Given the description of an element on the screen output the (x, y) to click on. 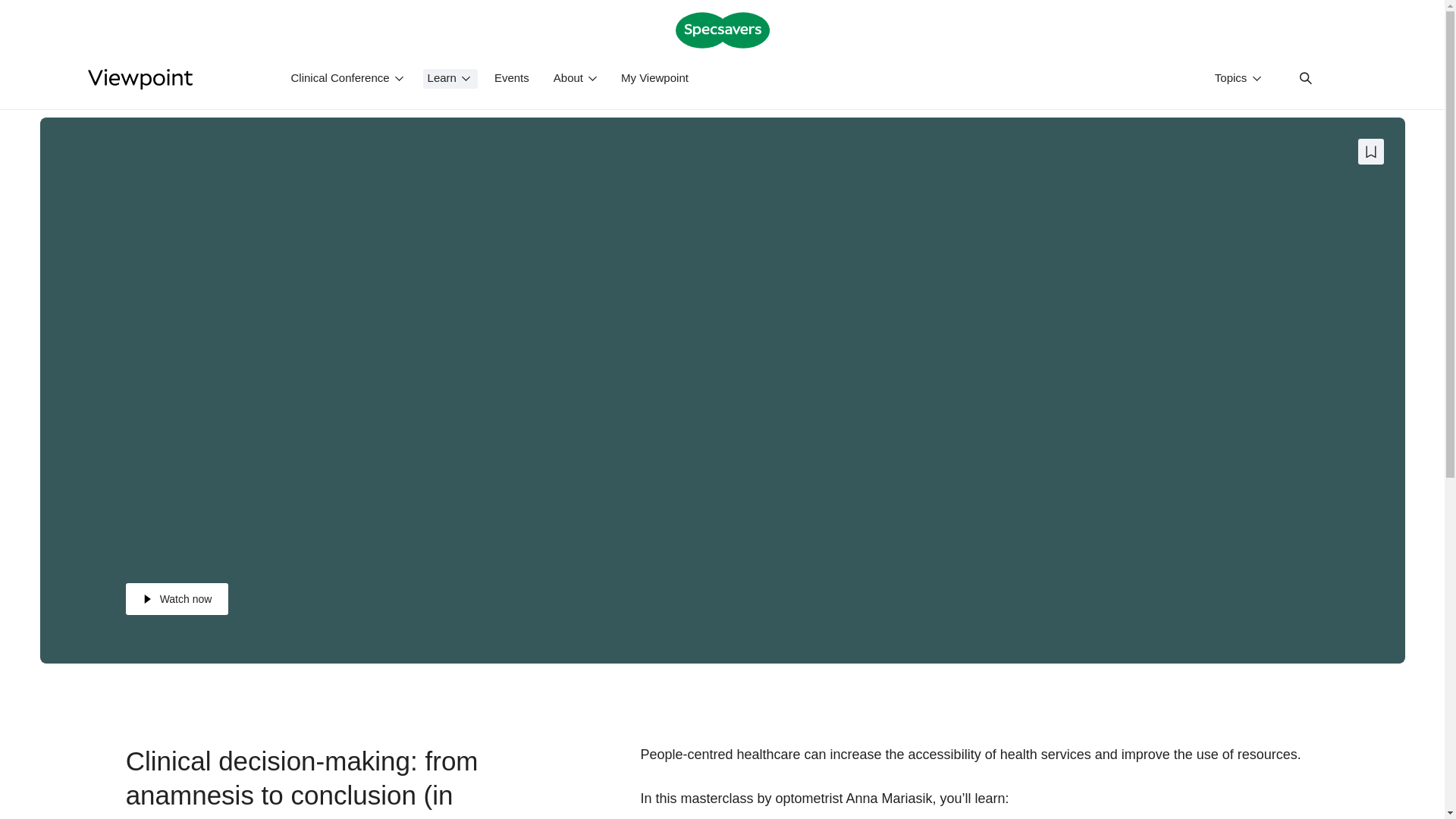
Topics (1239, 78)
My Viewpoint (655, 78)
Events (513, 78)
About (576, 78)
Learn (450, 78)
Clinical Conference (348, 78)
Save to My Viewpoint (1369, 151)
